Given the description of an element on the screen output the (x, y) to click on. 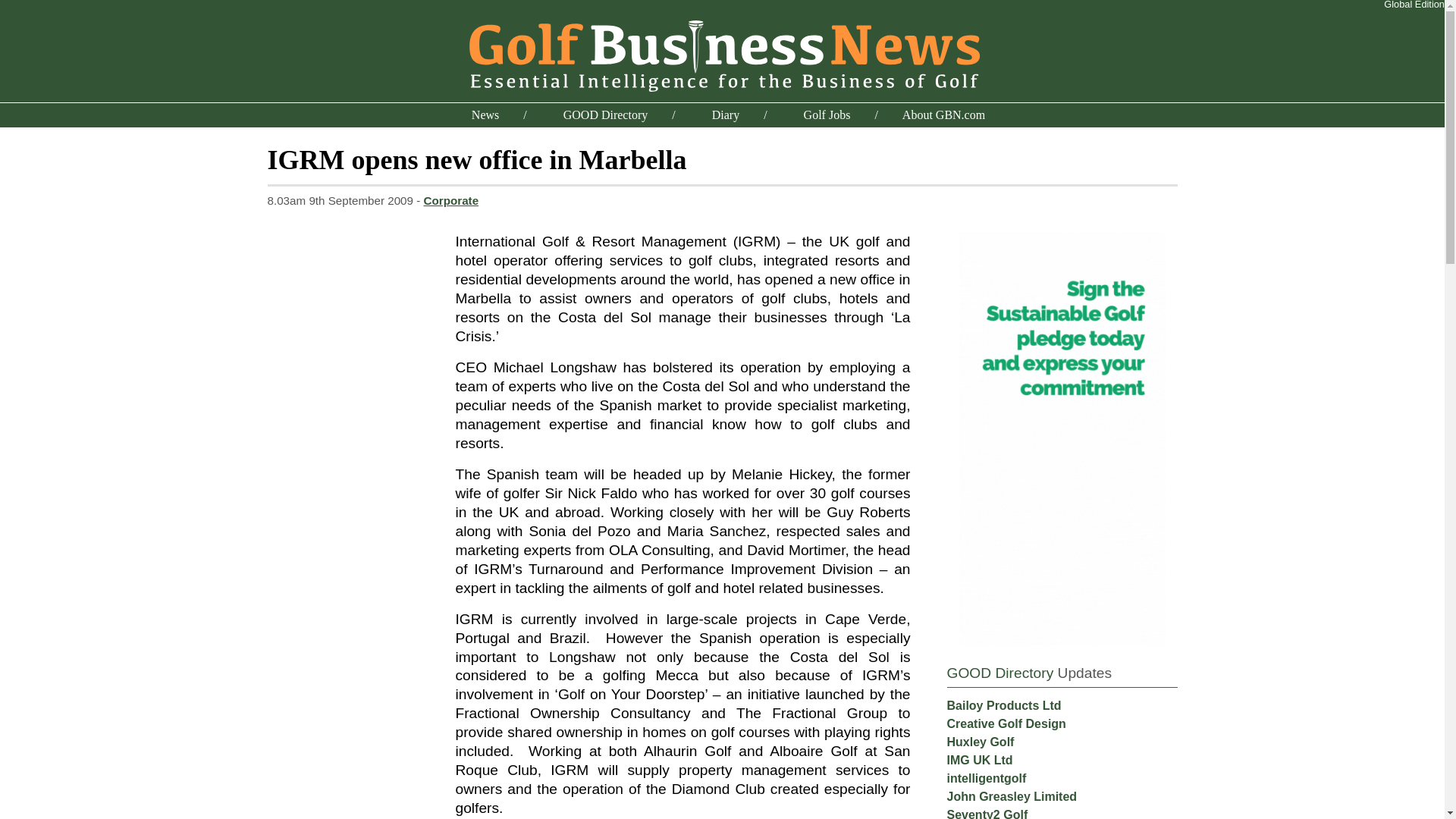
IMG UK Ltd (978, 759)
intelligentgolf (986, 778)
GOOD Directory (605, 114)
Seventy2 Golf (986, 813)
GOOD Directory (999, 672)
News (485, 114)
John Greasley Limited (1011, 796)
GBN Home (722, 52)
Conferences and exhibitions across the golfing world (725, 114)
All the latest news from the golf industry (485, 114)
About GBN.com (943, 114)
Bailoy Products Ltd (1003, 705)
Huxley Golf (979, 741)
Corporate (451, 200)
